Given the description of an element on the screen output the (x, y) to click on. 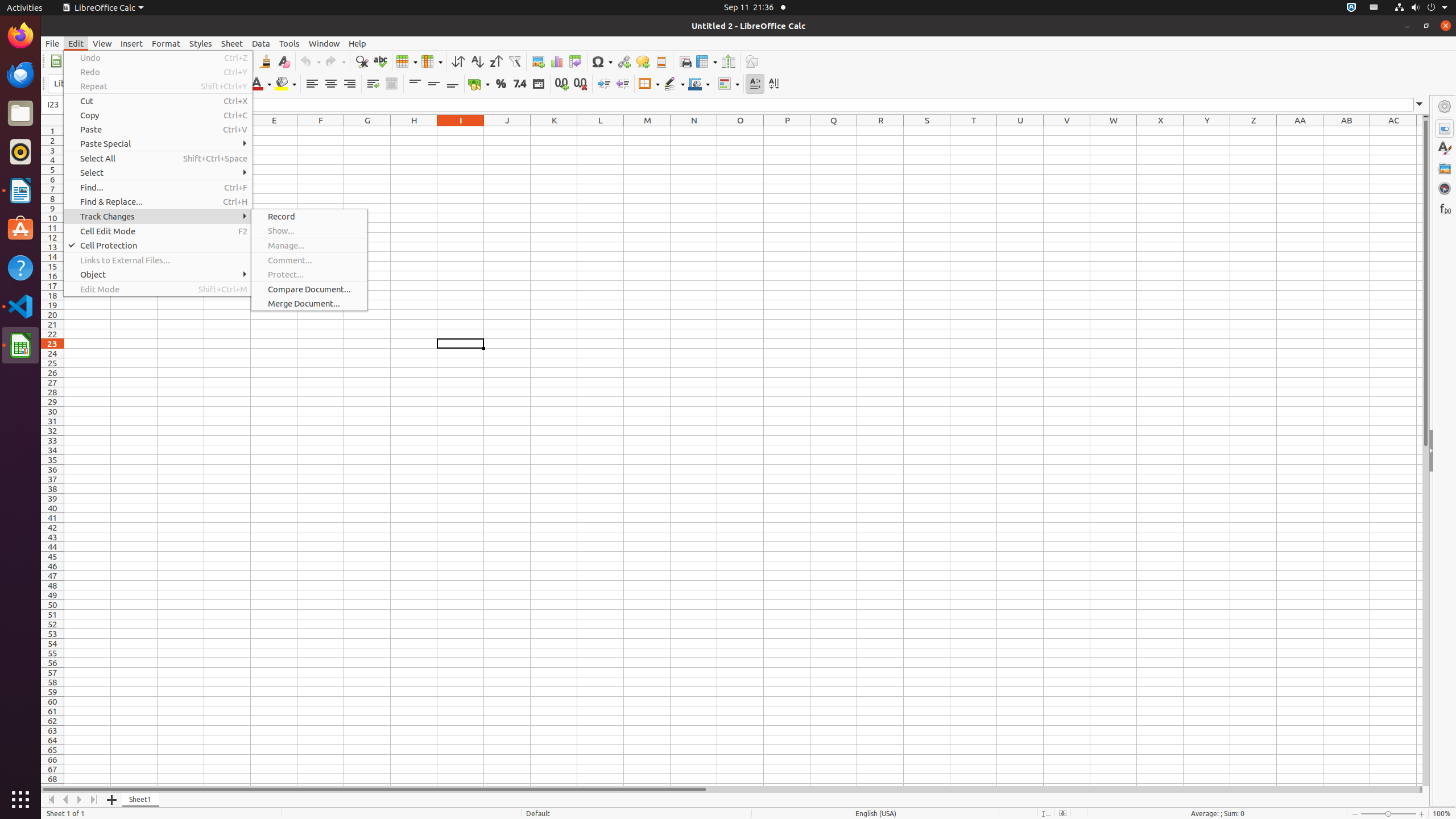
Select All Element type: menu-item (157, 158)
Delete Decimal Place Element type: push-button (580, 83)
H1 Element type: table-cell (413, 130)
Symbol Element type: push-button (601, 61)
AB1 Element type: table-cell (1346, 130)
